Given the description of an element on the screen output the (x, y) to click on. 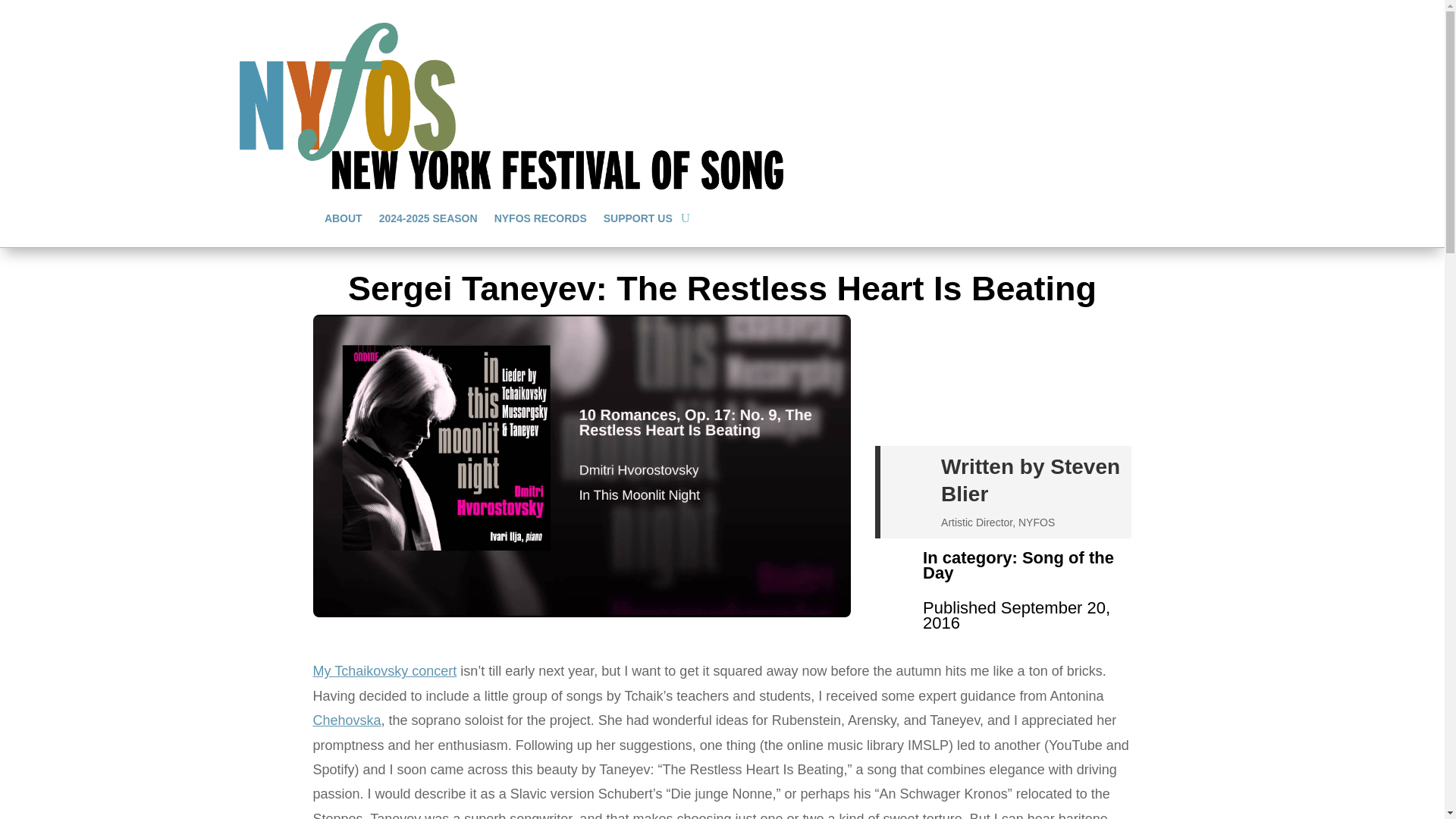
Steven Blier (1029, 480)
NYFOS RECORDS (540, 218)
2024-2025 SEASON (427, 218)
Song of the Day (1018, 564)
Chehovska (346, 720)
My Tchaikovsky concert (385, 670)
SUPPORT US (638, 218)
